Given the description of an element on the screen output the (x, y) to click on. 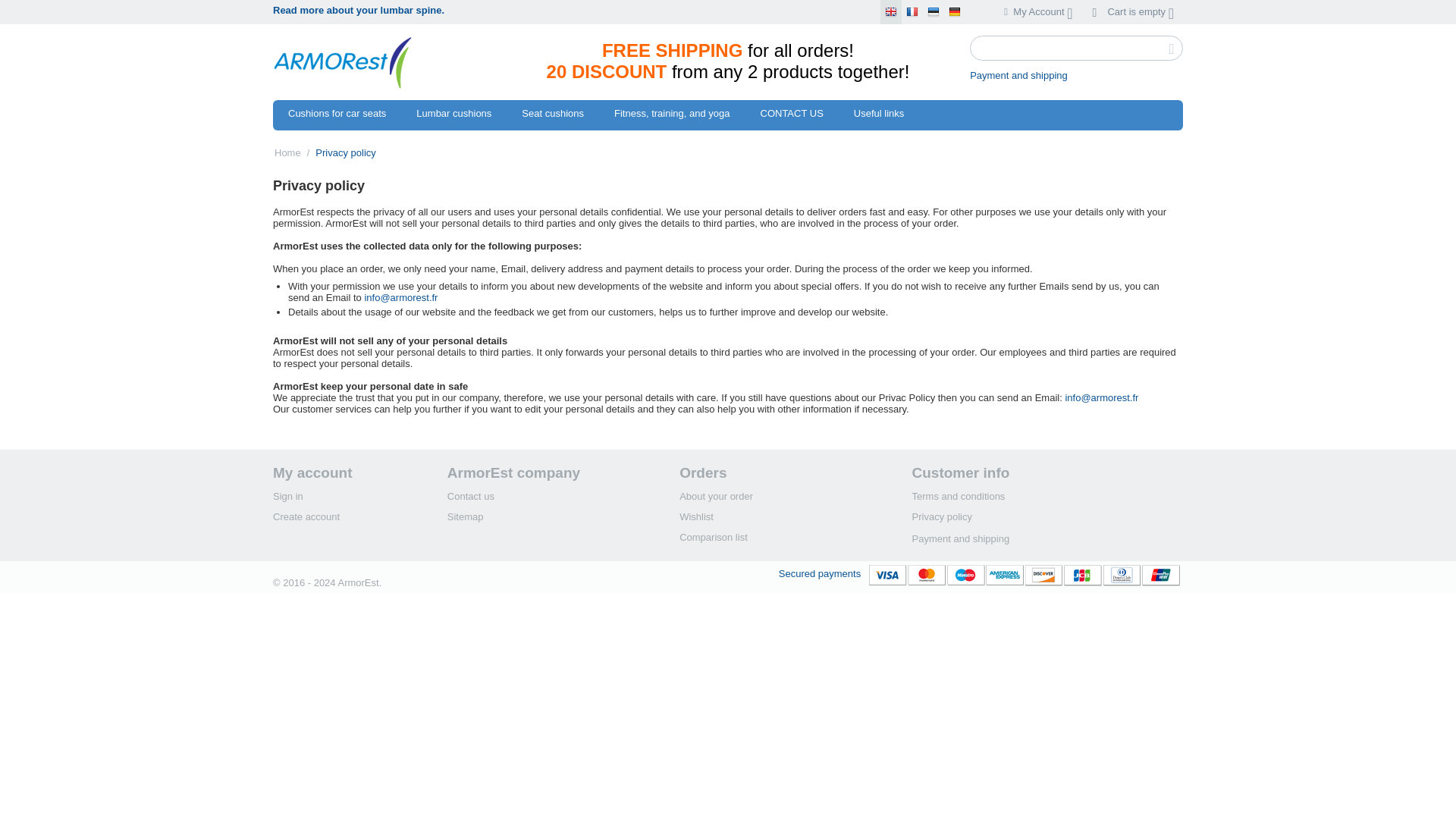
Read more about your lumbar spine. (358, 9)
Fitness, training, and yoga (671, 114)
Search (1075, 48)
Contact us (470, 496)
Sign in (287, 496)
Cart is empty (1132, 11)
Sitemap (464, 516)
Cushions for car seats (337, 114)
Seat cushions (552, 114)
CONTACT US (791, 114)
Home (287, 152)
About your order (715, 496)
Payment and shipping (1018, 75)
Create account (306, 516)
Useful links (878, 114)
